Given the description of an element on the screen output the (x, y) to click on. 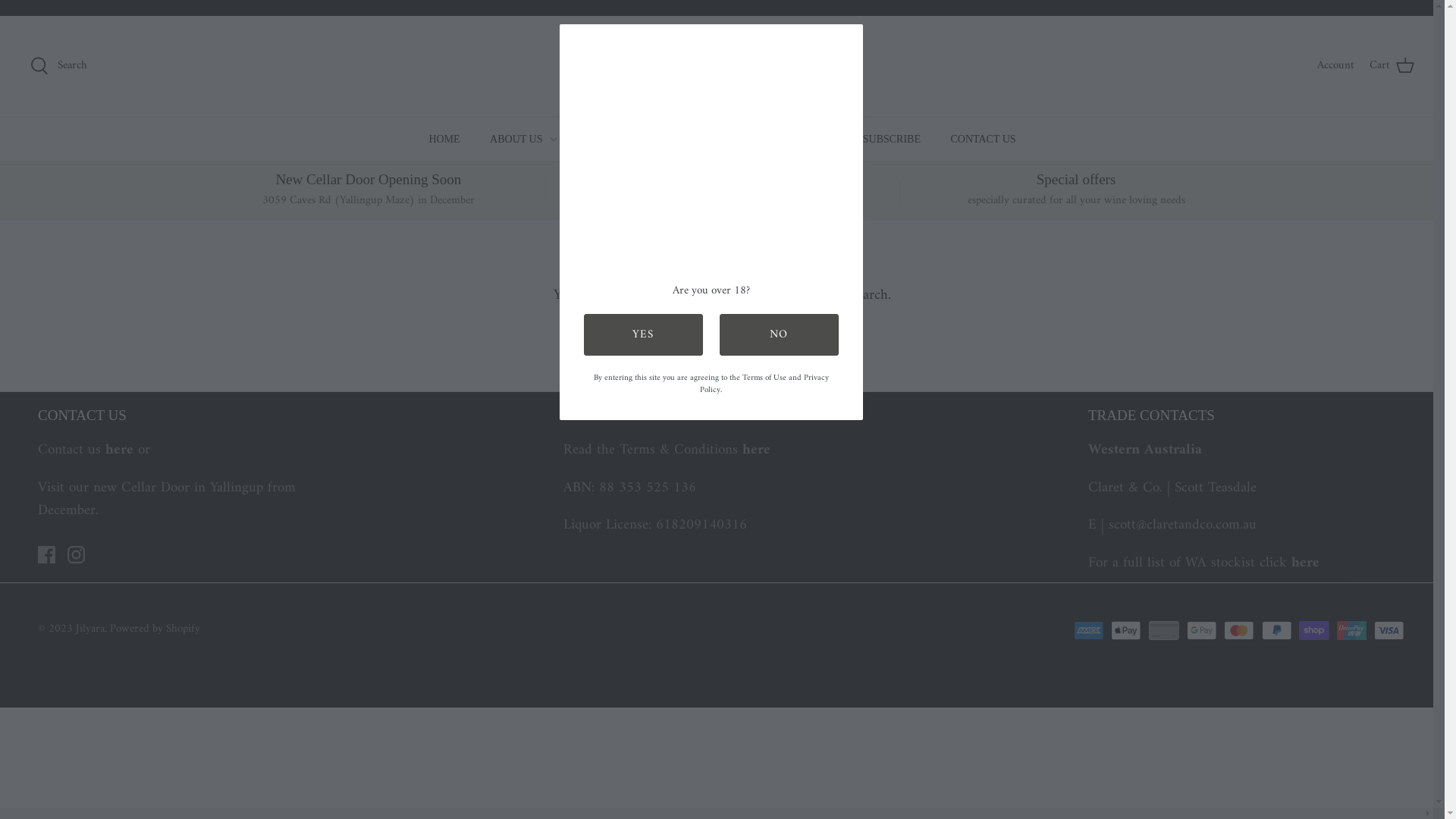
Toggle menu Element type: text (553, 138)
ABOUT US Element type: text (515, 138)
HOME Element type: text (443, 138)
Account Element type: text (1335, 65)
BLOG Element type: text (664, 138)
Facebook Element type: text (46, 554)
Instagram Element type: text (75, 554)
Jilyara Element type: text (89, 628)
here Element type: text (755, 449)
Toggle menu Element type: text (620, 138)
CONTACT US Element type: text (982, 138)
home page Element type: text (767, 294)
Cart Element type: text (1391, 65)
here Element type: text (1305, 562)
try a search Element type: text (853, 294)
SHOP Element type: text (595, 138)
THE 'HIVE' WINE CLUB Element type: text (765, 138)
No Element type: text (777, 334)
new Cellar Door in Yallingup from December. Element type: text (166, 499)
Toggle menu Element type: text (833, 138)
Powered by Shopify Element type: text (154, 628)
Yes Element type: text (642, 334)
SUBSCRIBE Element type: text (891, 138)
Search Element type: text (58, 65)
here Element type: text (119, 449)
Jilyara Element type: hover (721, 66)
